Given the description of an element on the screen output the (x, y) to click on. 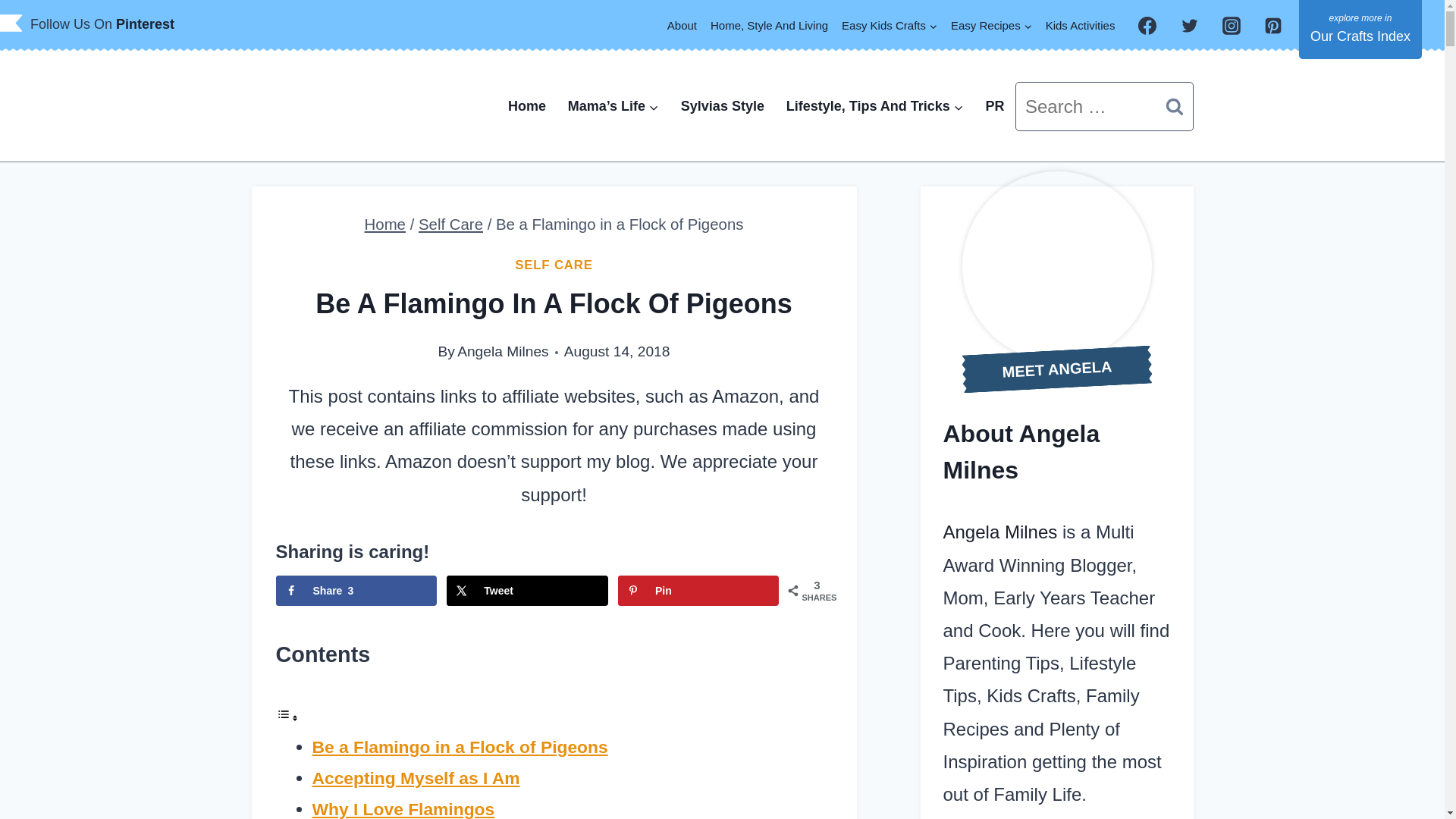
Home (527, 105)
Accepting Myself as I Am (416, 777)
Be a Flamingo in a Flock of Pigeons (460, 746)
Why I Love Flamingos (404, 809)
About (682, 25)
Sylvias Style (721, 105)
Share on X (526, 590)
Save to Pinterest (697, 590)
Our Crafts Index (1360, 29)
Pinterest (145, 23)
